Given the description of an element on the screen output the (x, y) to click on. 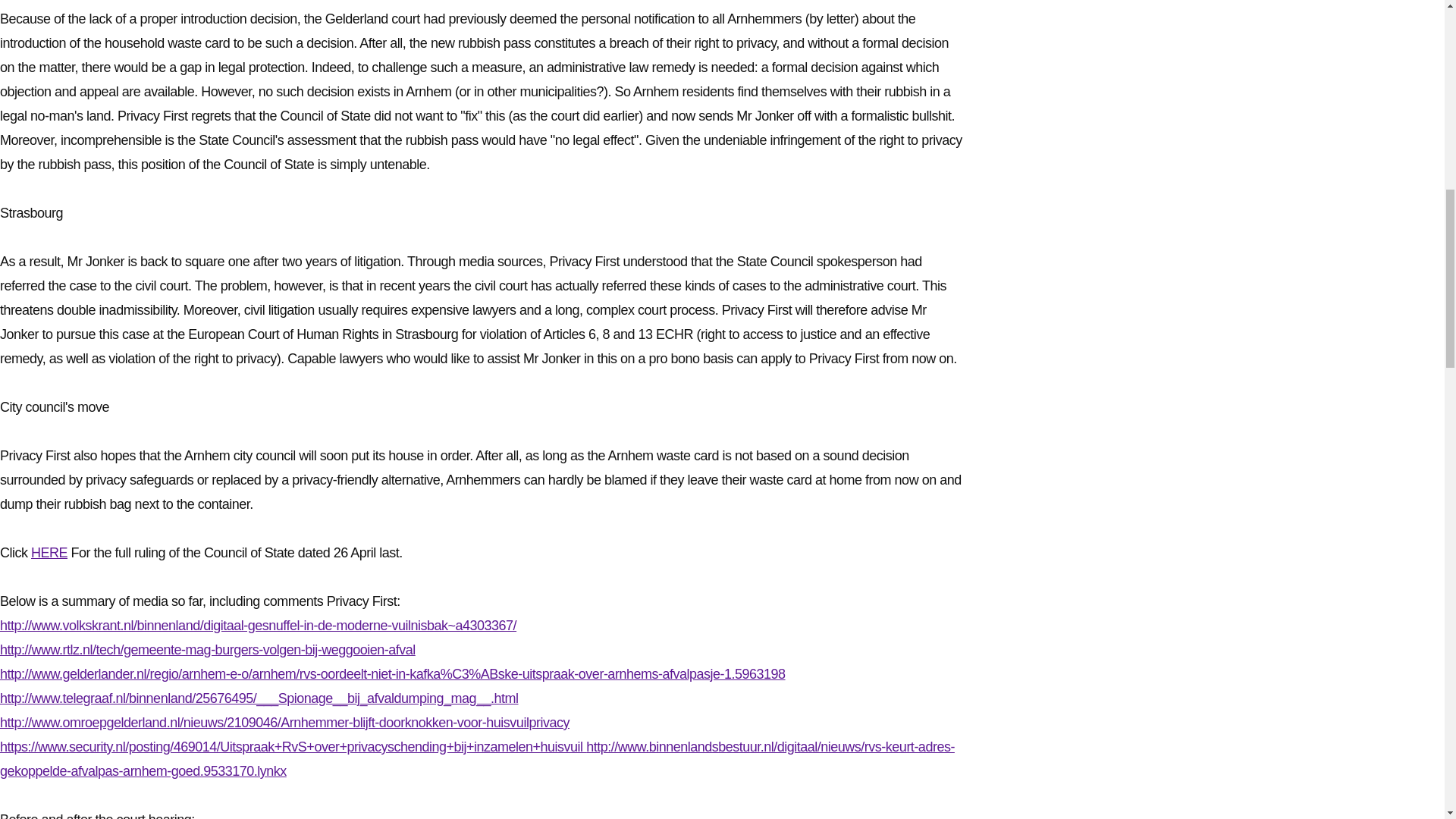
HERE (48, 552)
